Given the description of an element on the screen output the (x, y) to click on. 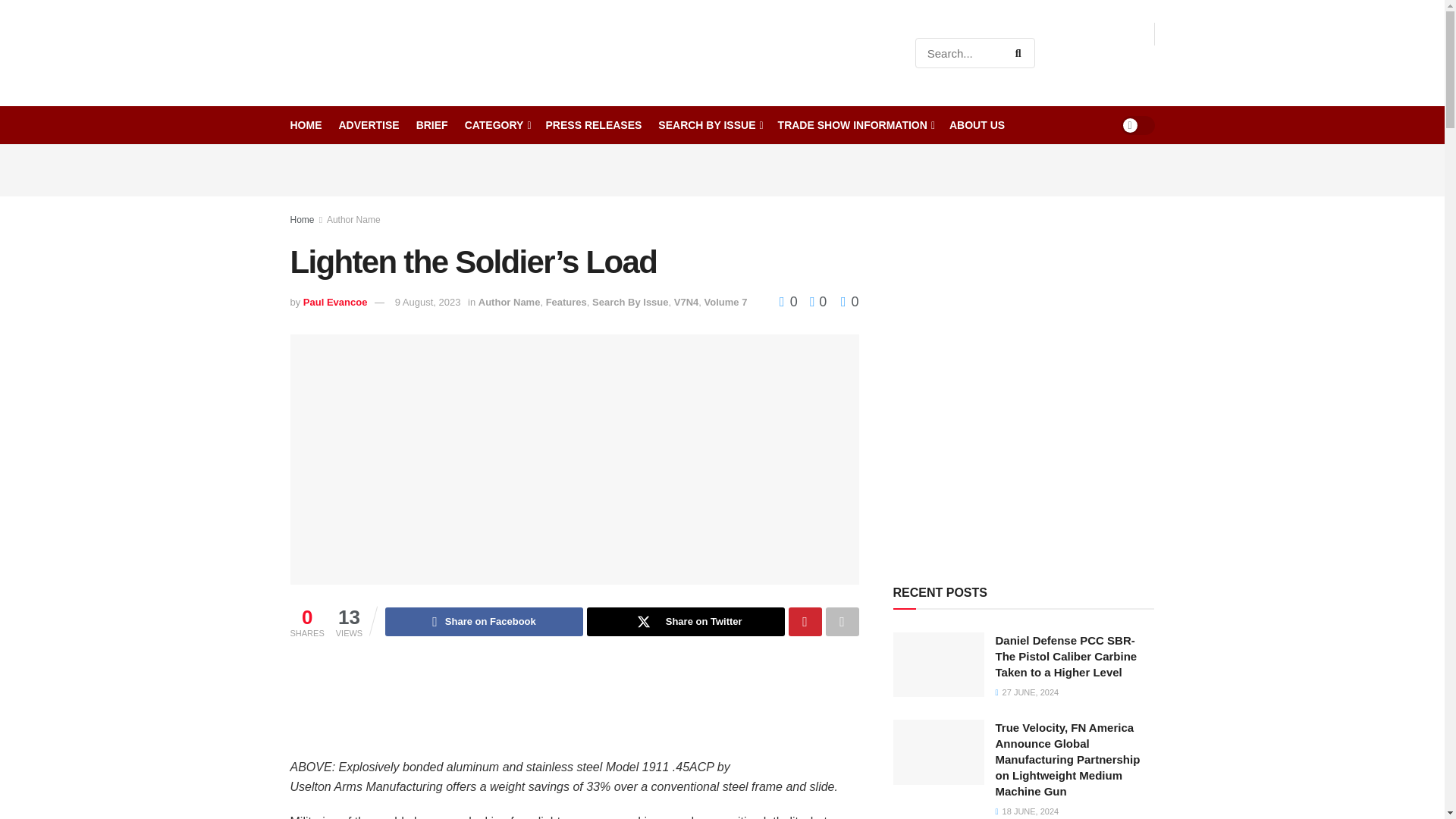
Login (1135, 64)
CATEGORY (496, 124)
HOME (305, 124)
PRESS RELEASES (594, 124)
Posts by Paul Evancoe (335, 301)
ADVERTISE (367, 124)
BRIEF (432, 124)
SEARCH BY ISSUE (709, 124)
